Given the description of an element on the screen output the (x, y) to click on. 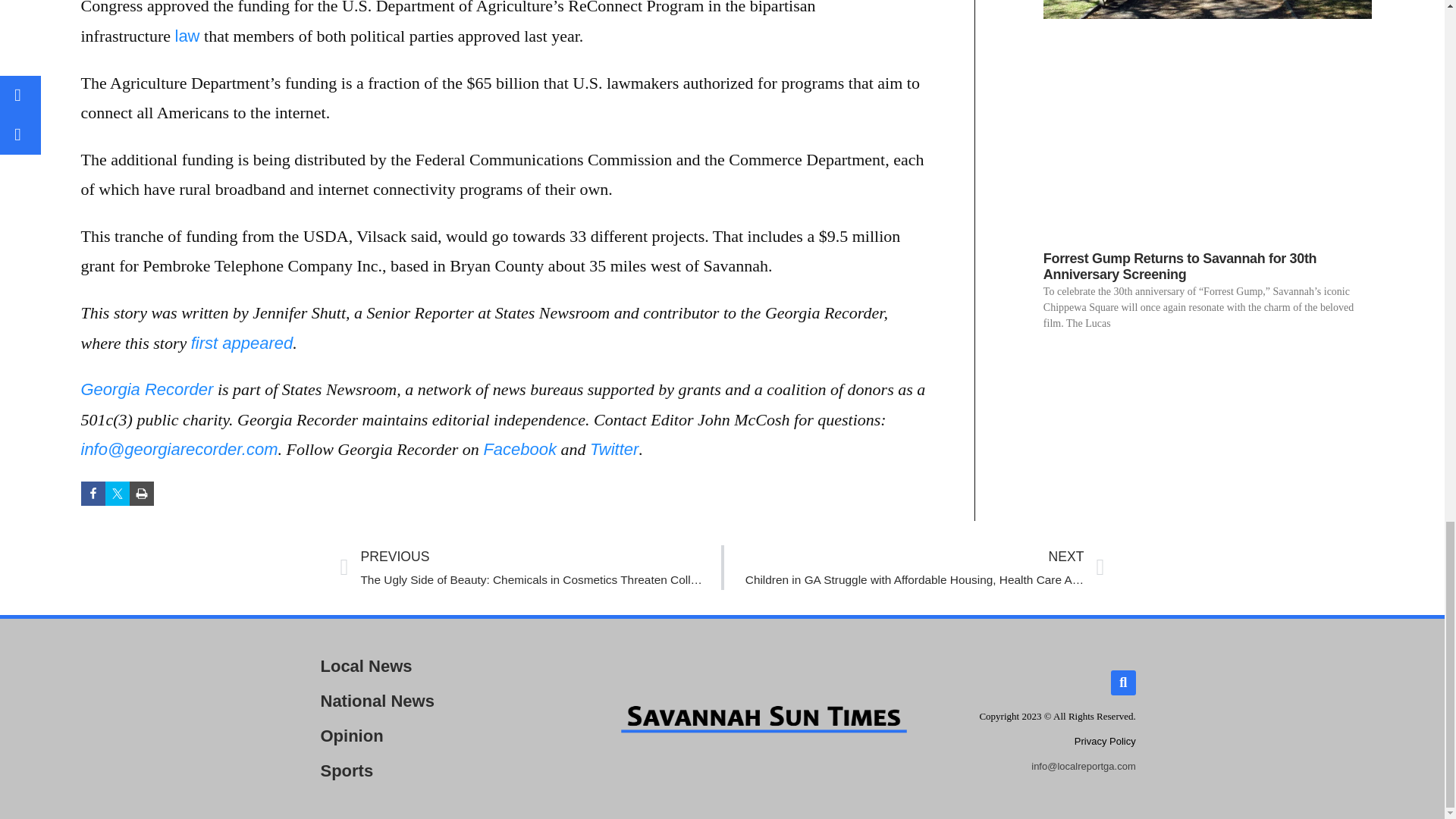
Share on Twitter (116, 493)
Share on Facebook (92, 493)
Facebook (519, 448)
Local News (438, 666)
first appeared (242, 342)
Twitter (614, 448)
law (186, 35)
Print this Page (140, 493)
Georgia Recorder (146, 389)
National News (438, 701)
Privacy Policy (1104, 740)
Sports (438, 770)
Opinion (438, 736)
